Given the description of an element on the screen output the (x, y) to click on. 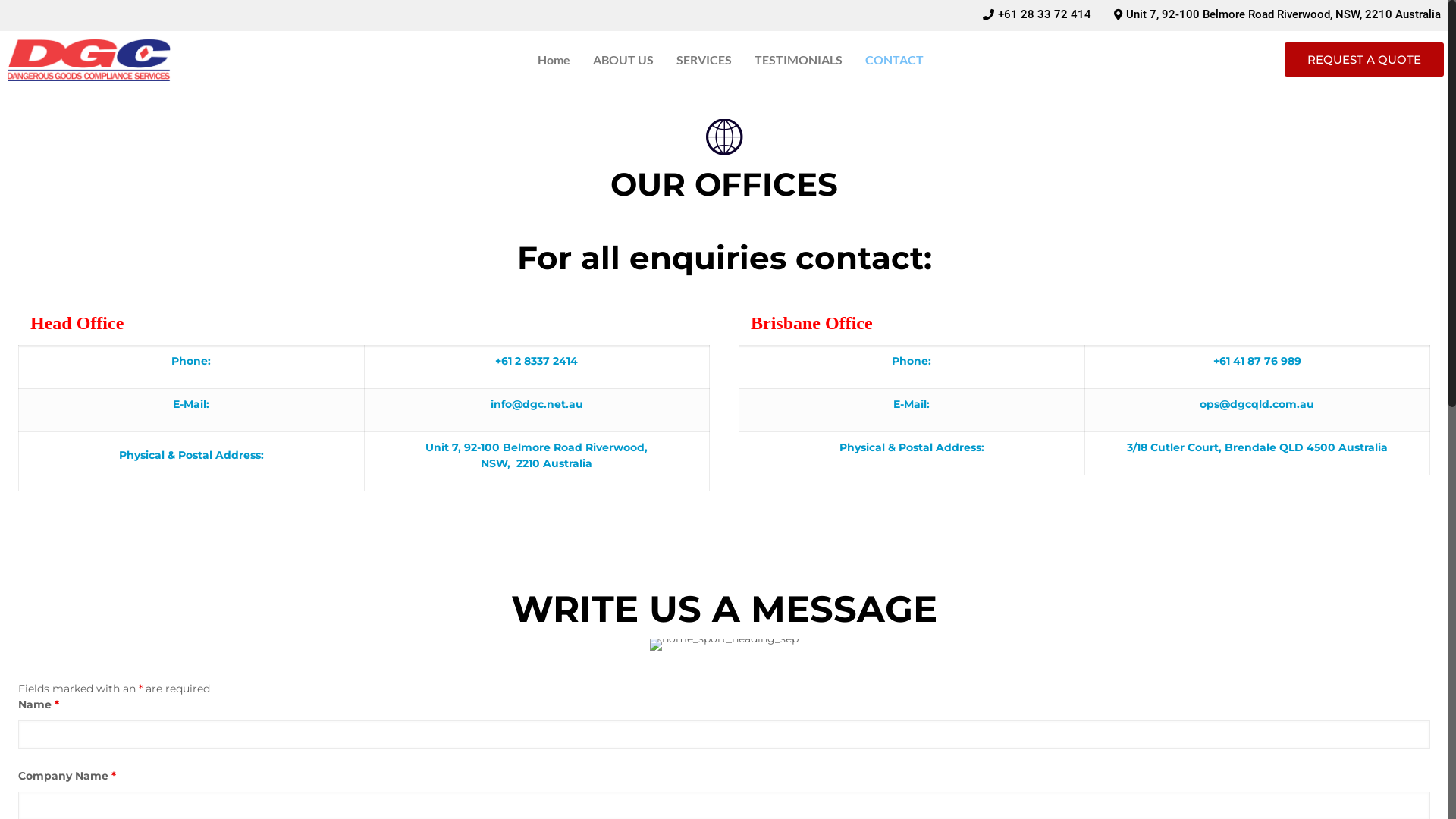
TESTIMONIALS Element type: text (798, 59)
Unit 7, 92-100 Belmore Road Riverwood, NSW, 2210 Australia Element type: text (1276, 15)
+61 28 33 72 414 Element type: text (1036, 15)
REQUEST A QUOTE Element type: text (1363, 59)
CONTACT Element type: text (894, 59)
Home Element type: text (553, 59)
SERVICES Element type: text (704, 59)
home_sport_heading_sep Element type: hover (723, 644)
ABOUT US Element type: text (623, 59)
